Given the description of an element on the screen output the (x, y) to click on. 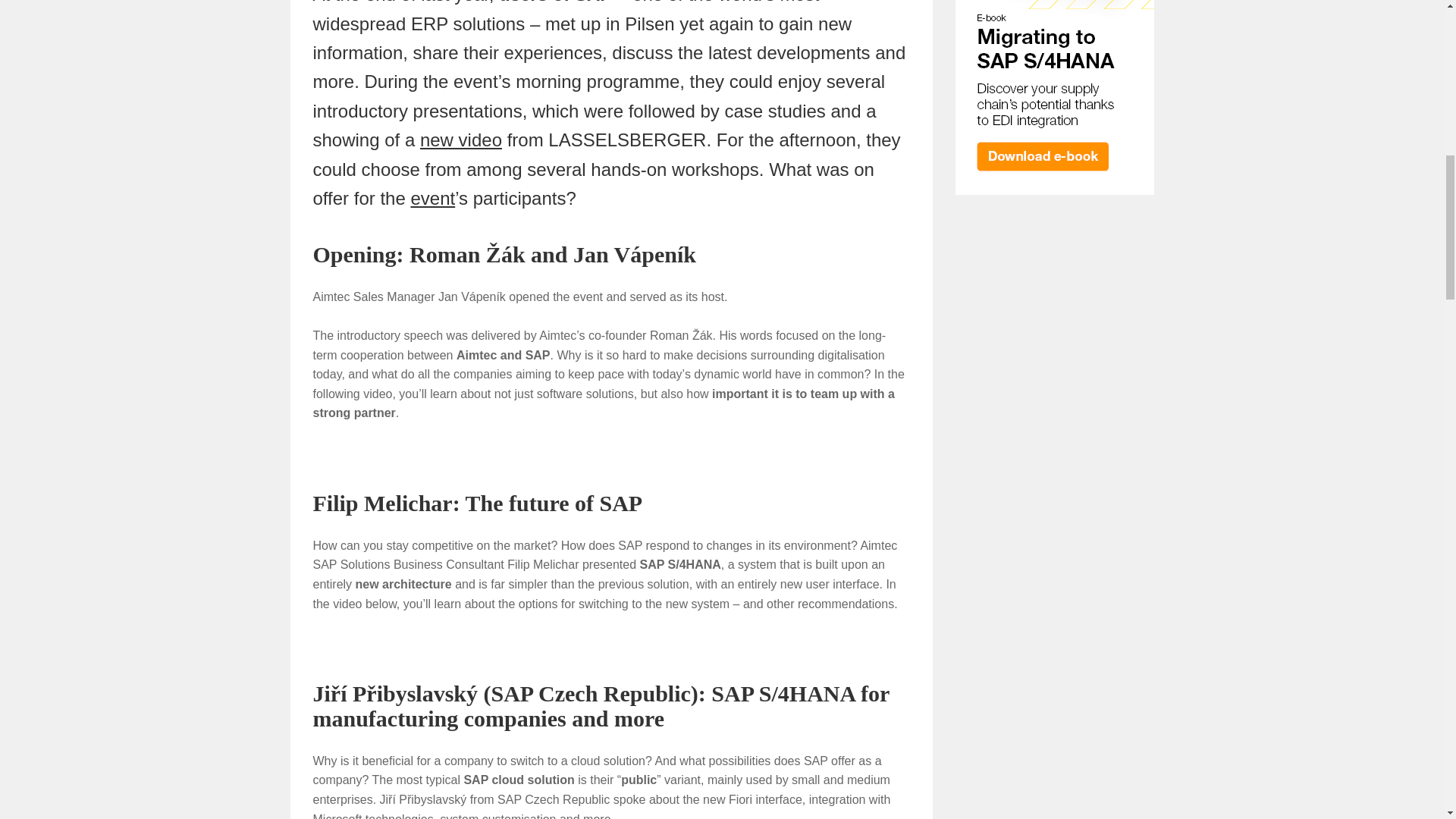
SAP User Group 2023 (432, 198)
new video (461, 139)
event (432, 198)
